Given the description of an element on the screen output the (x, y) to click on. 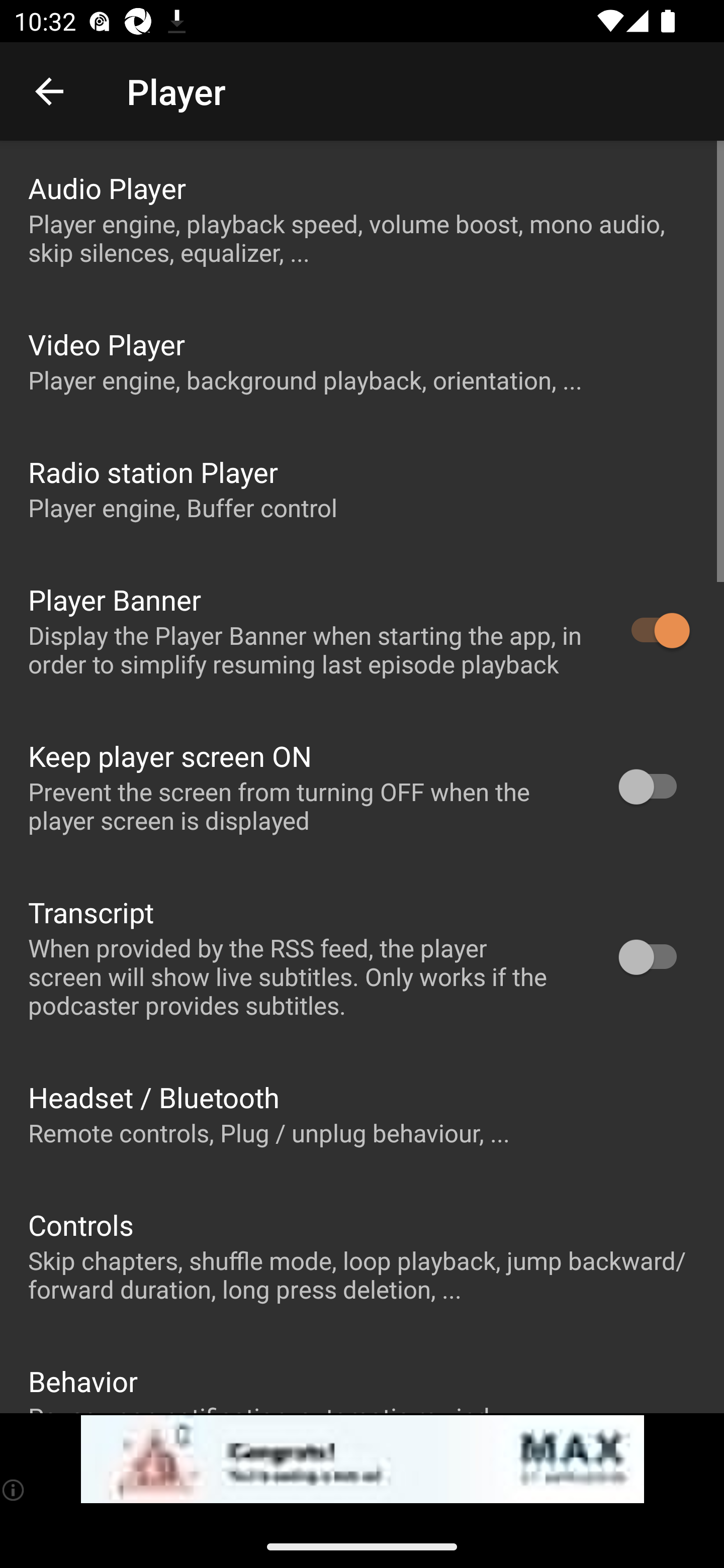
Navigate up (49, 91)
Radio station Player Player engine, Buffer control (362, 487)
app-monetization (362, 1459)
(i) (14, 1489)
